Given the description of an element on the screen output the (x, y) to click on. 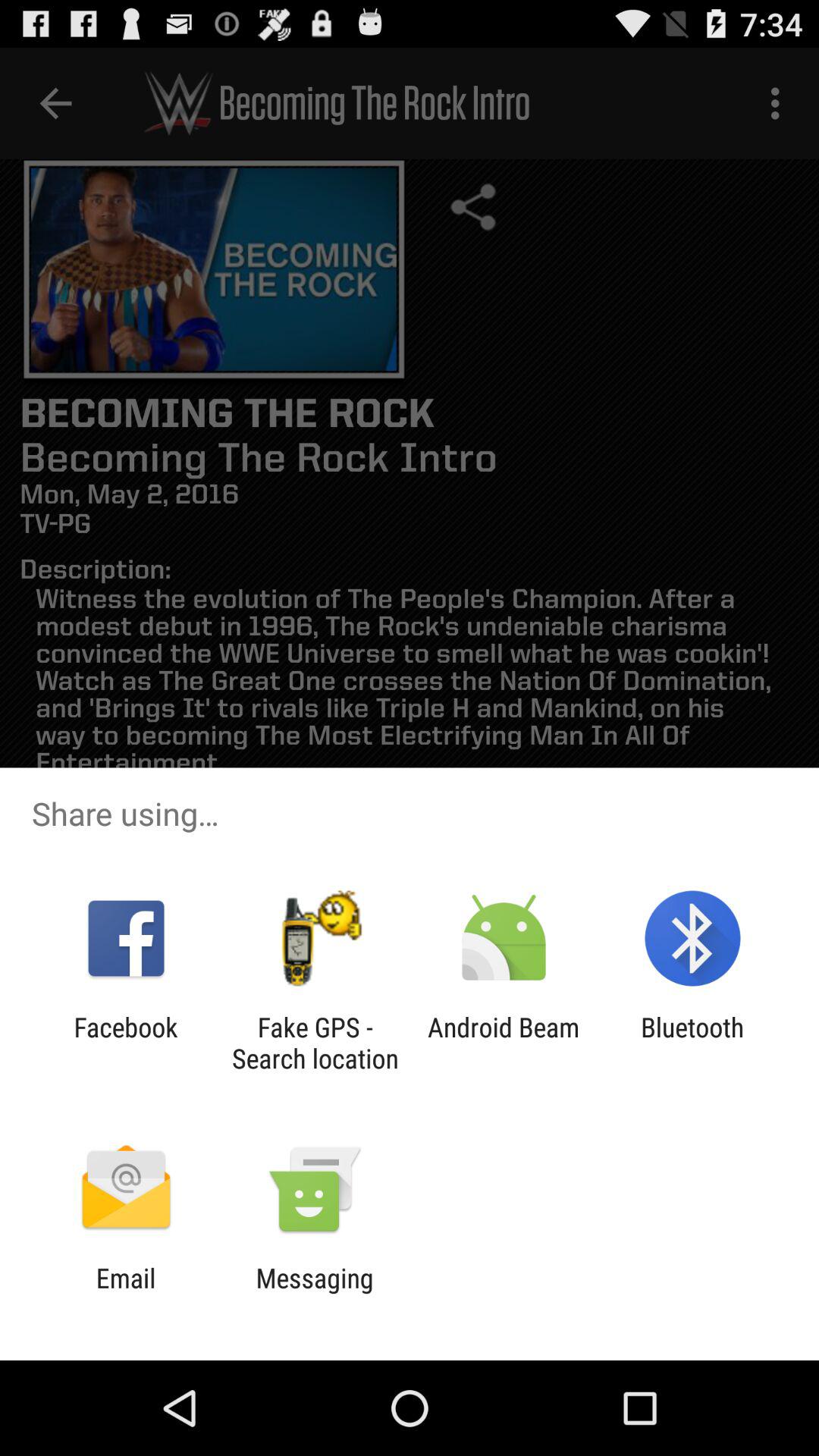
launch the icon to the right of the android beam icon (691, 1042)
